Given the description of an element on the screen output the (x, y) to click on. 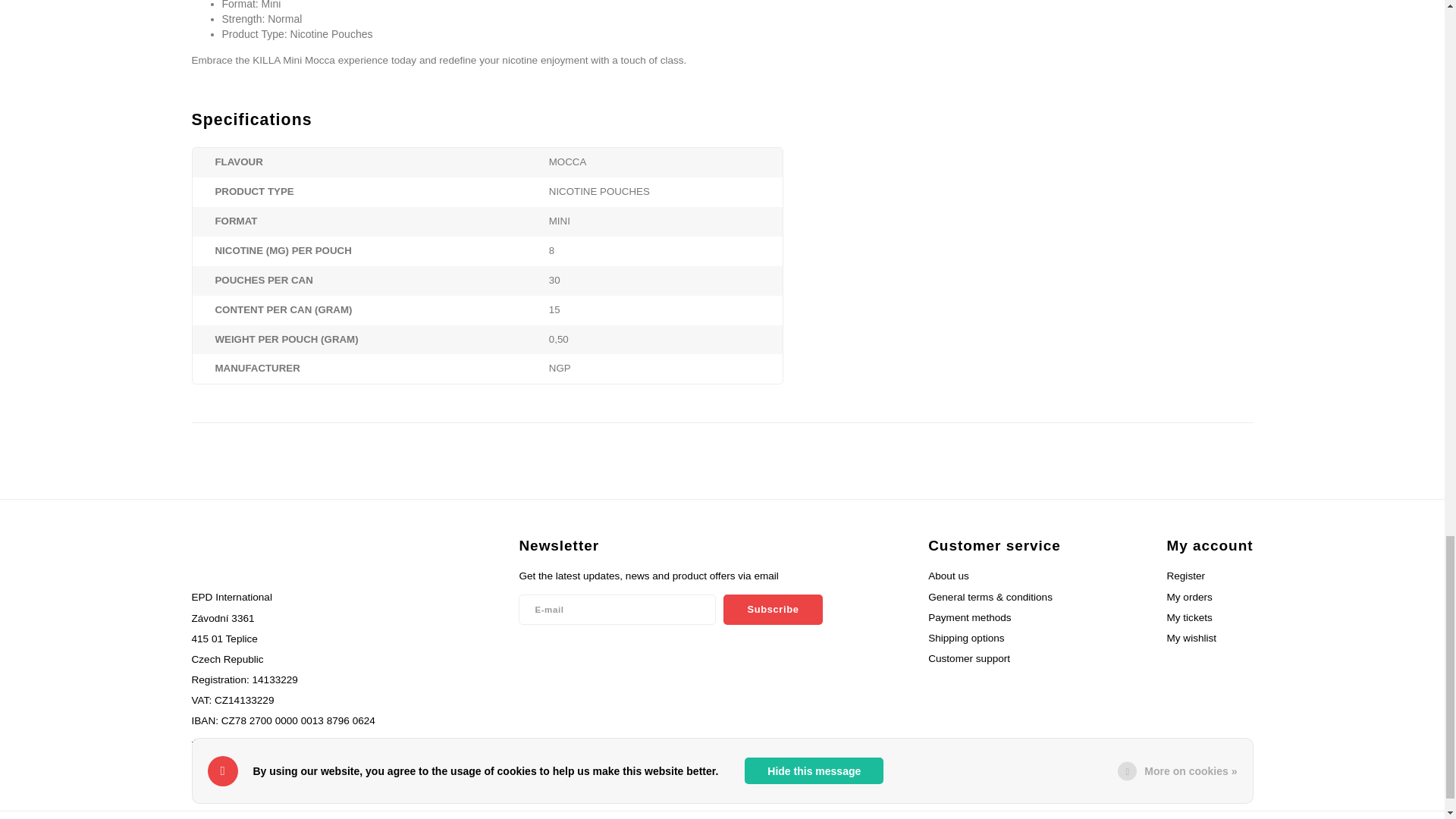
My tickets (1188, 617)
My orders (1188, 596)
Subscribe (772, 609)
Register (1185, 575)
My wishlist (1190, 637)
